Given the description of an element on the screen output the (x, y) to click on. 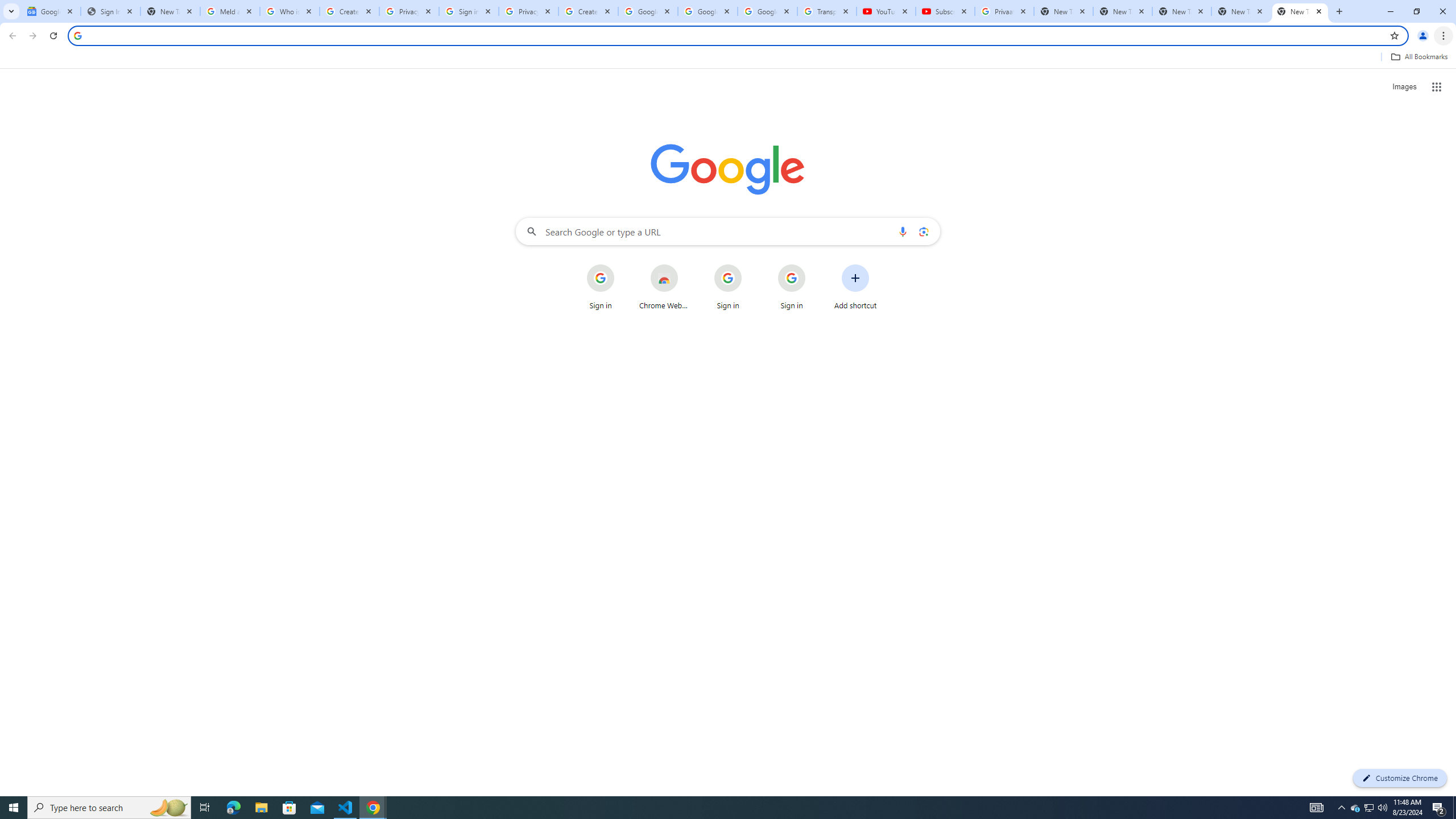
More actions for Sign in shortcut (814, 265)
YouTube (885, 11)
New Tab (1300, 11)
Who is my administrator? - Google Account Help (289, 11)
Google News (50, 11)
Sign in - Google Accounts (468, 11)
Sign In - USA TODAY (110, 11)
Google Account (767, 11)
